Given the description of an element on the screen output the (x, y) to click on. 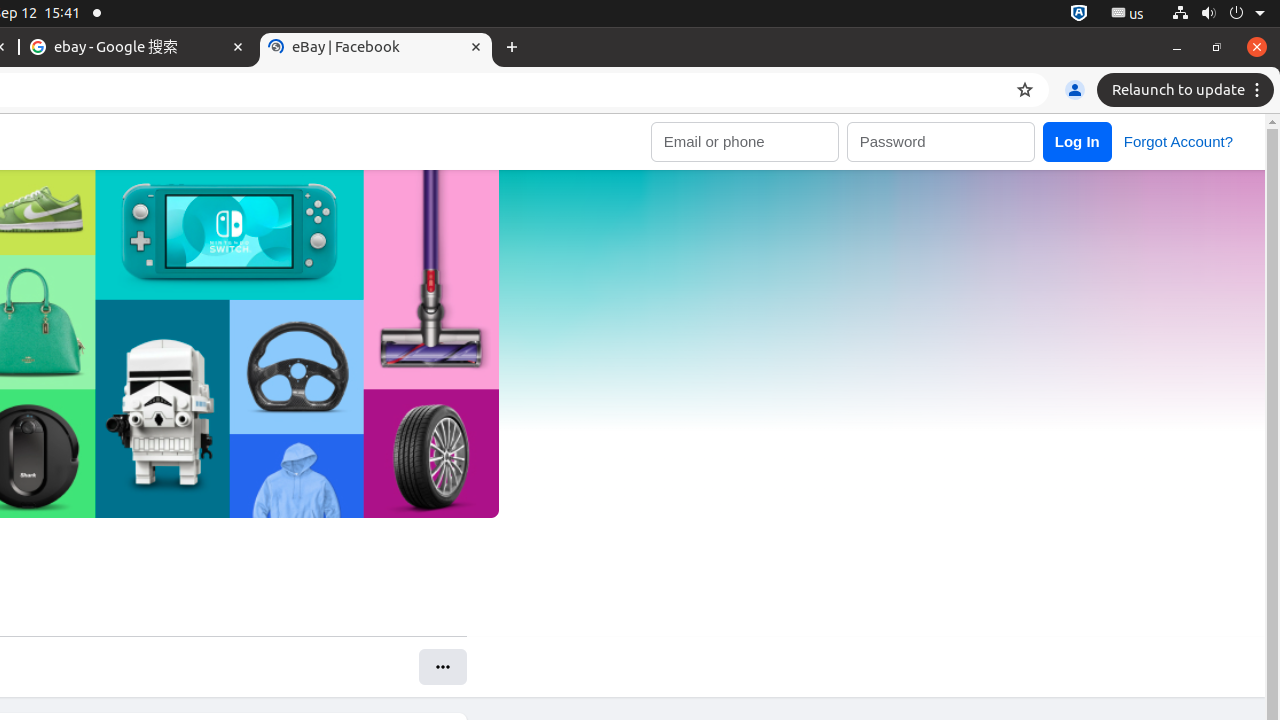
System Element type: menu (1218, 13)
New Tab Element type: push-button (512, 47)
eBay | Facebook Element type: page-tab (376, 47)
Relaunch to update Element type: push-button (1188, 90)
You Element type: push-button (1075, 90)
